Given the description of an element on the screen output the (x, y) to click on. 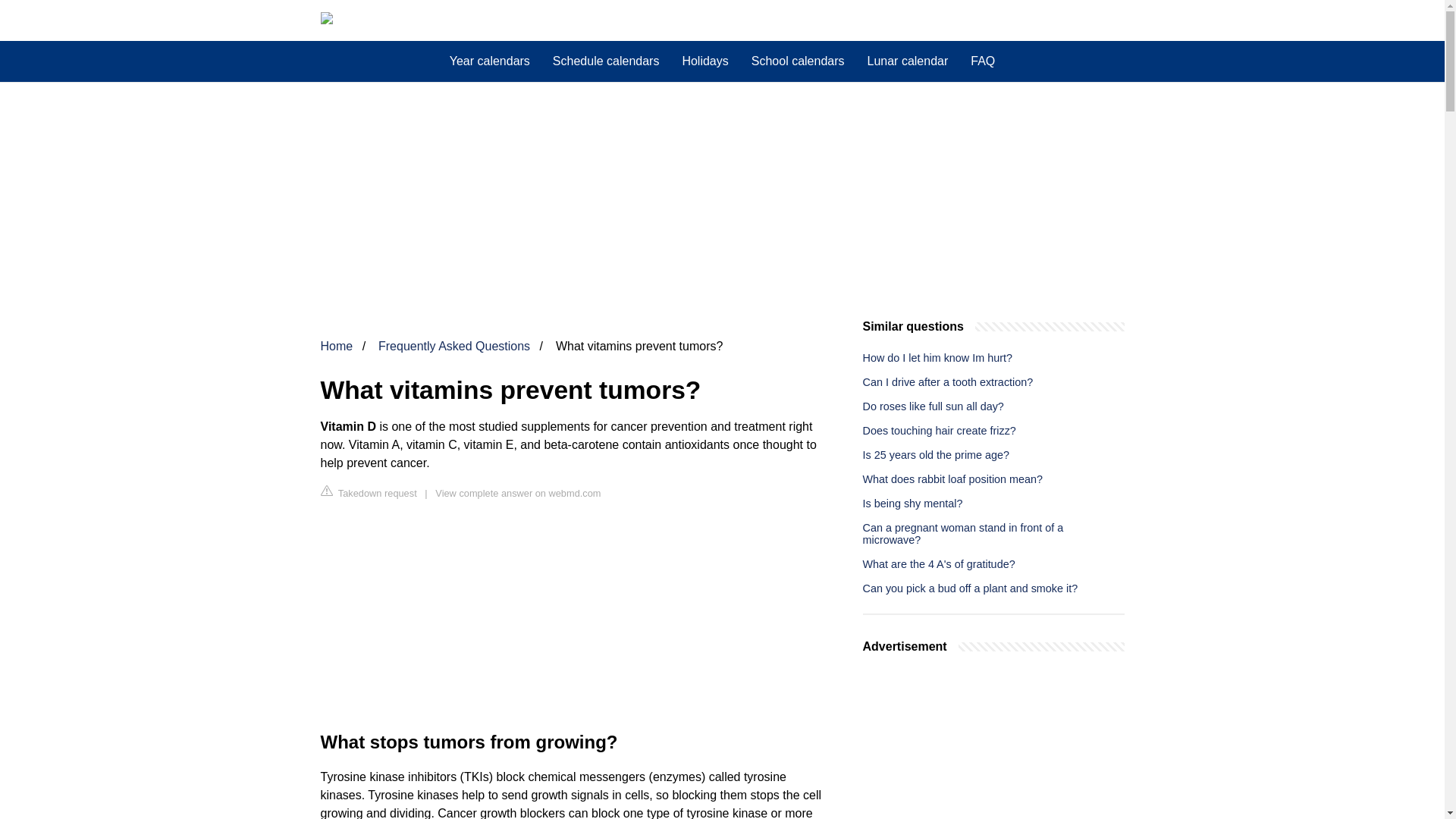
Year calendars (489, 60)
Holidays (704, 60)
View complete answer on webmd.com (517, 492)
Schedule calendars (606, 60)
Frequently Asked Questions (453, 345)
Takedown request (368, 492)
FAQ (982, 60)
School calendars (797, 60)
Lunar calendar (907, 60)
Home (336, 345)
